Given the description of an element on the screen output the (x, y) to click on. 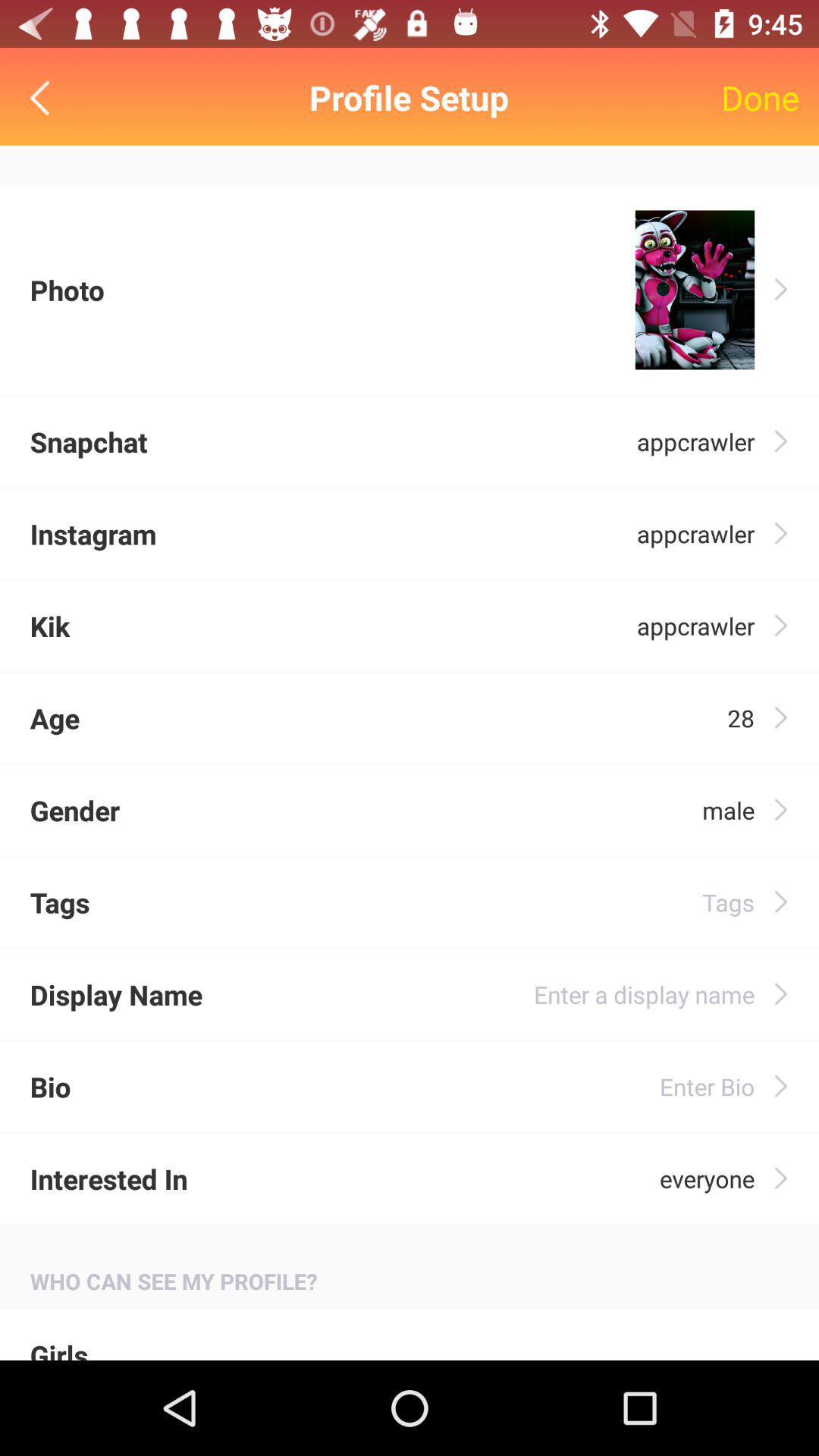
click the item to the right of profile setup (760, 97)
